Given the description of an element on the screen output the (x, y) to click on. 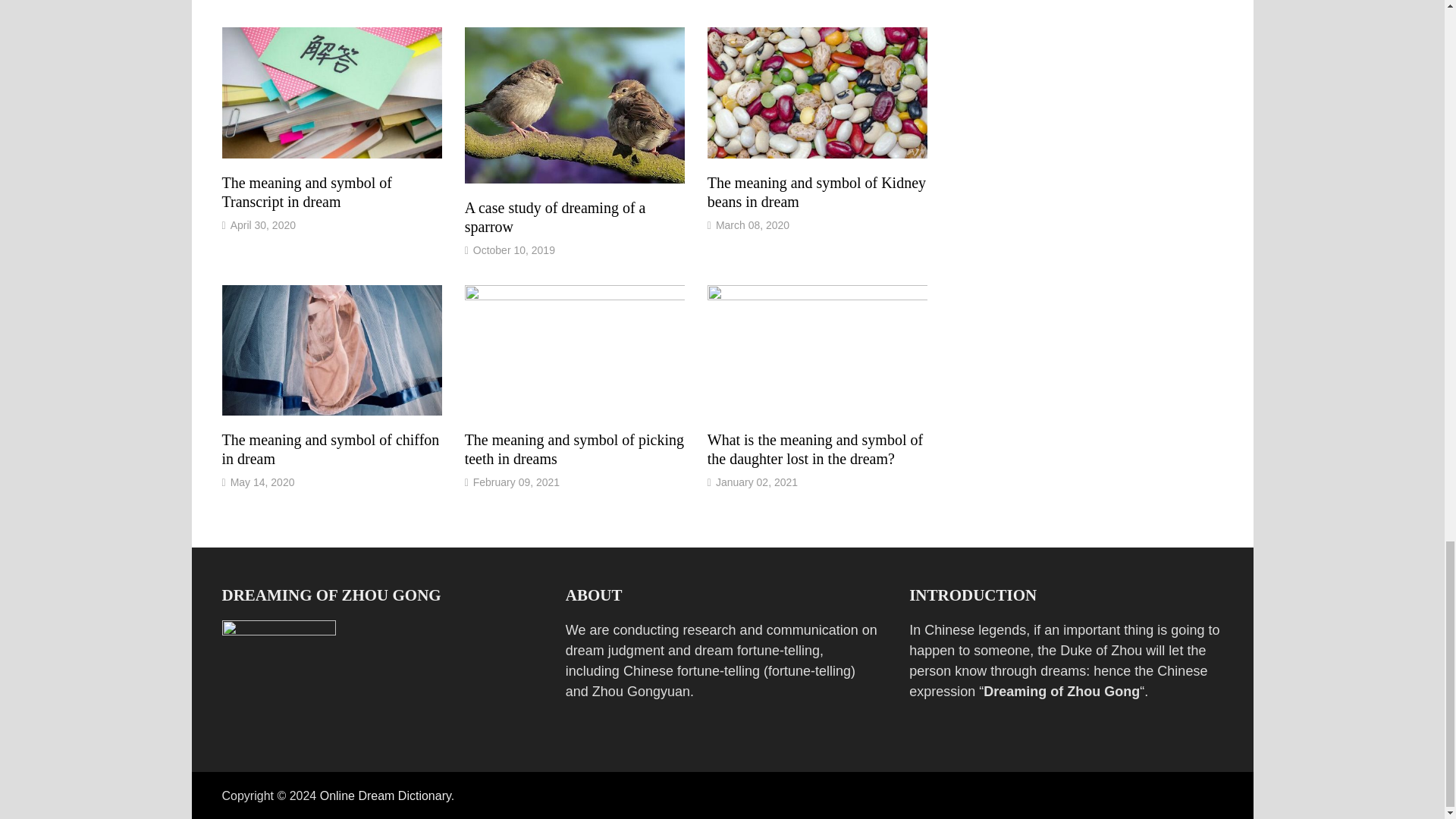
A case study of dreaming of a sparrow (555, 217)
The meaning and symbol of picking teeth in dreams (574, 448)
Online Dream Dictionary (385, 795)
April 30, 2020 (262, 224)
March 08, 2020 (752, 224)
The meaning and symbol of Transcript in dream (306, 191)
The meaning and symbol of chiffon in dream (330, 448)
The meaning and symbol of Kidney beans in dream (816, 191)
